Given the description of an element on the screen output the (x, y) to click on. 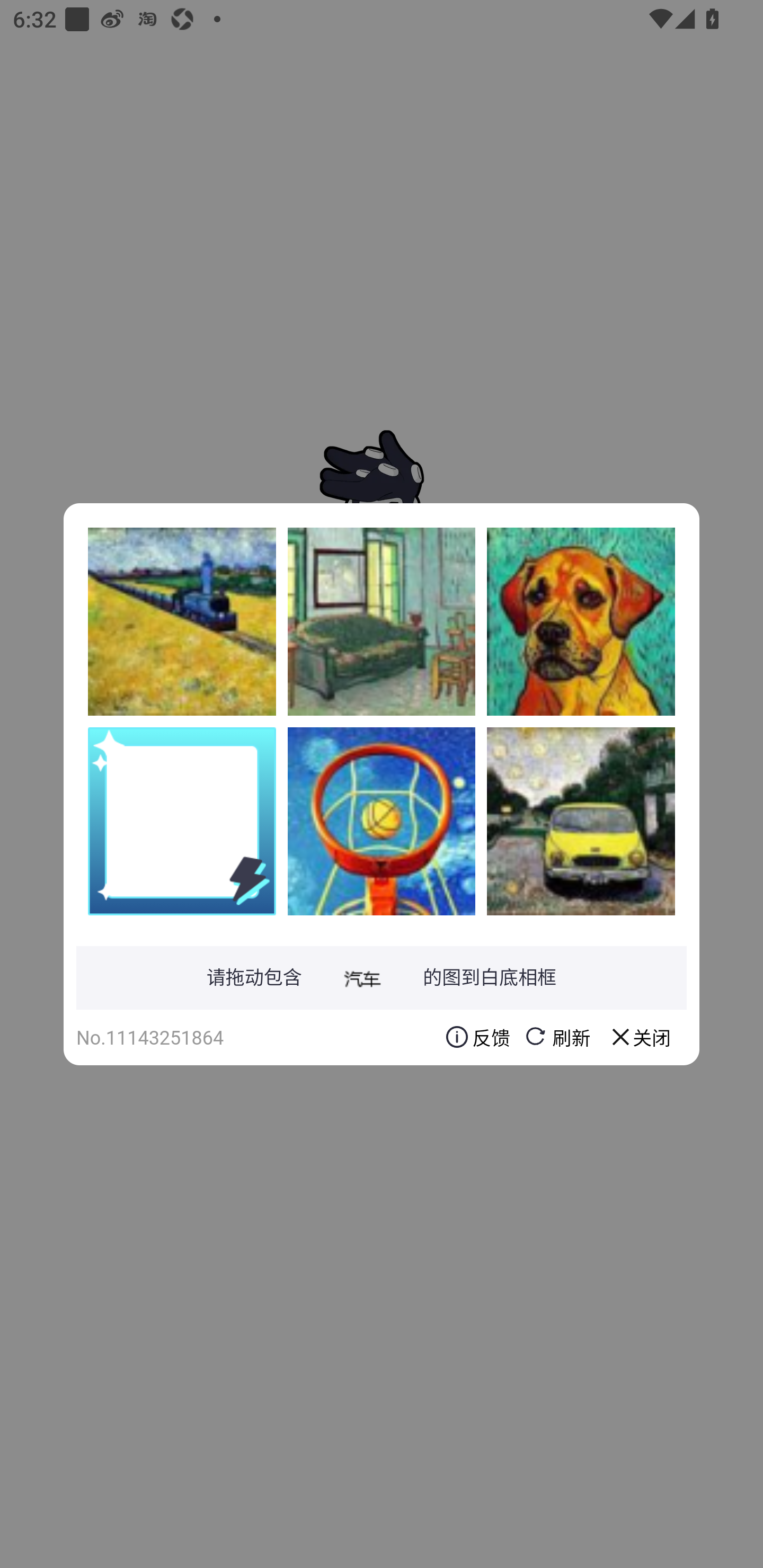
LONQ27stQHn18izvvXuPi3Q2xbZ1NAXj5pszl7l2u39 (381, 621)
2xvL1izgNZ4dk0a666mJOyXoFb8VY8vh (580, 621)
1tiY2eHnqarkE4Sdxtw3wJ (580, 820)
